Given the description of an element on the screen output the (x, y) to click on. 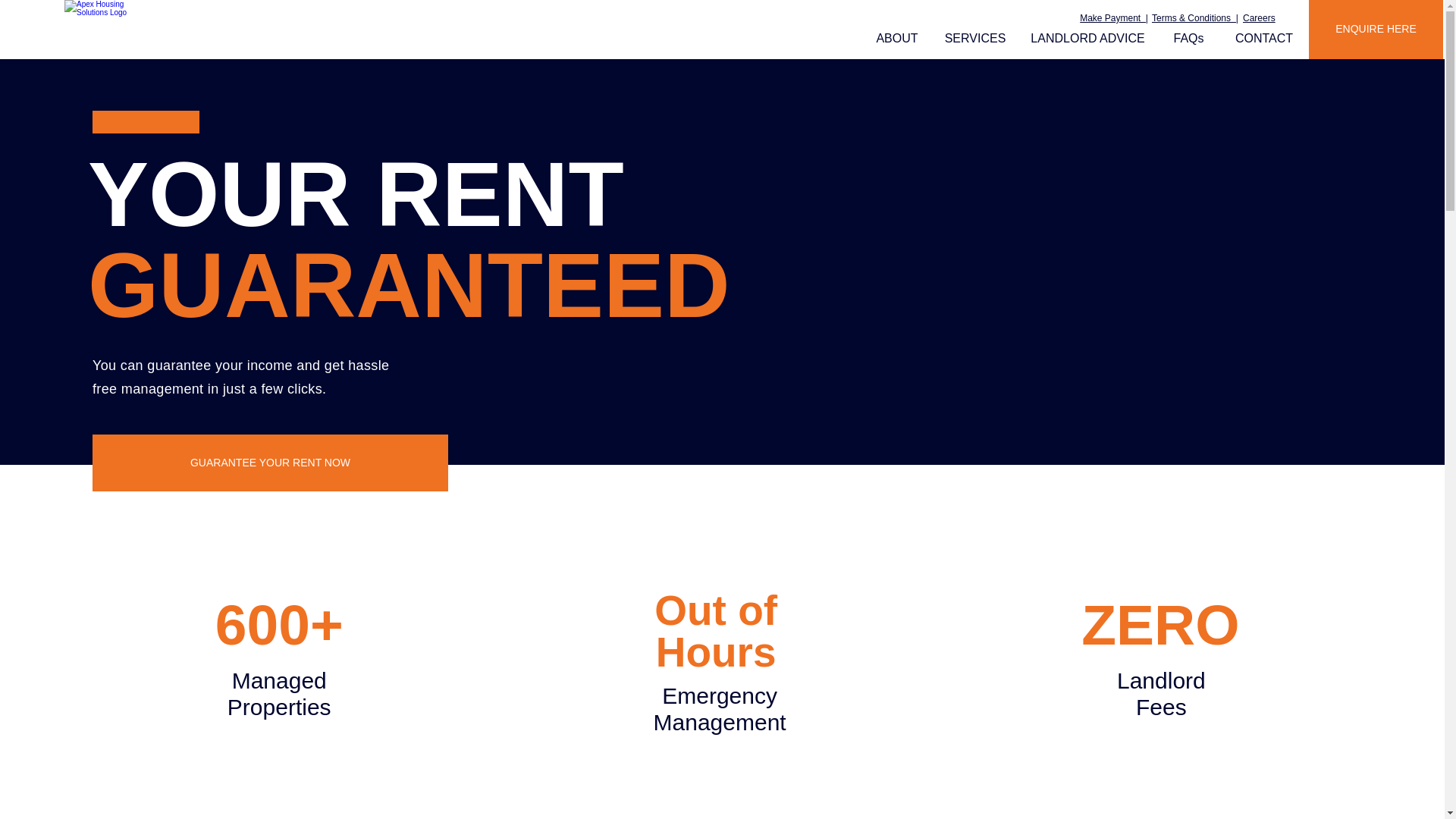
SERVICES (975, 38)
LANDLORD ADVICE (1087, 38)
GUARANTEE YOUR RENT NOW (270, 463)
ENQUIRE HERE (1375, 29)
Careers (1259, 18)
ABOUT (897, 38)
CONTACT (1264, 38)
FAQs (1188, 38)
